Given the description of an element on the screen output the (x, y) to click on. 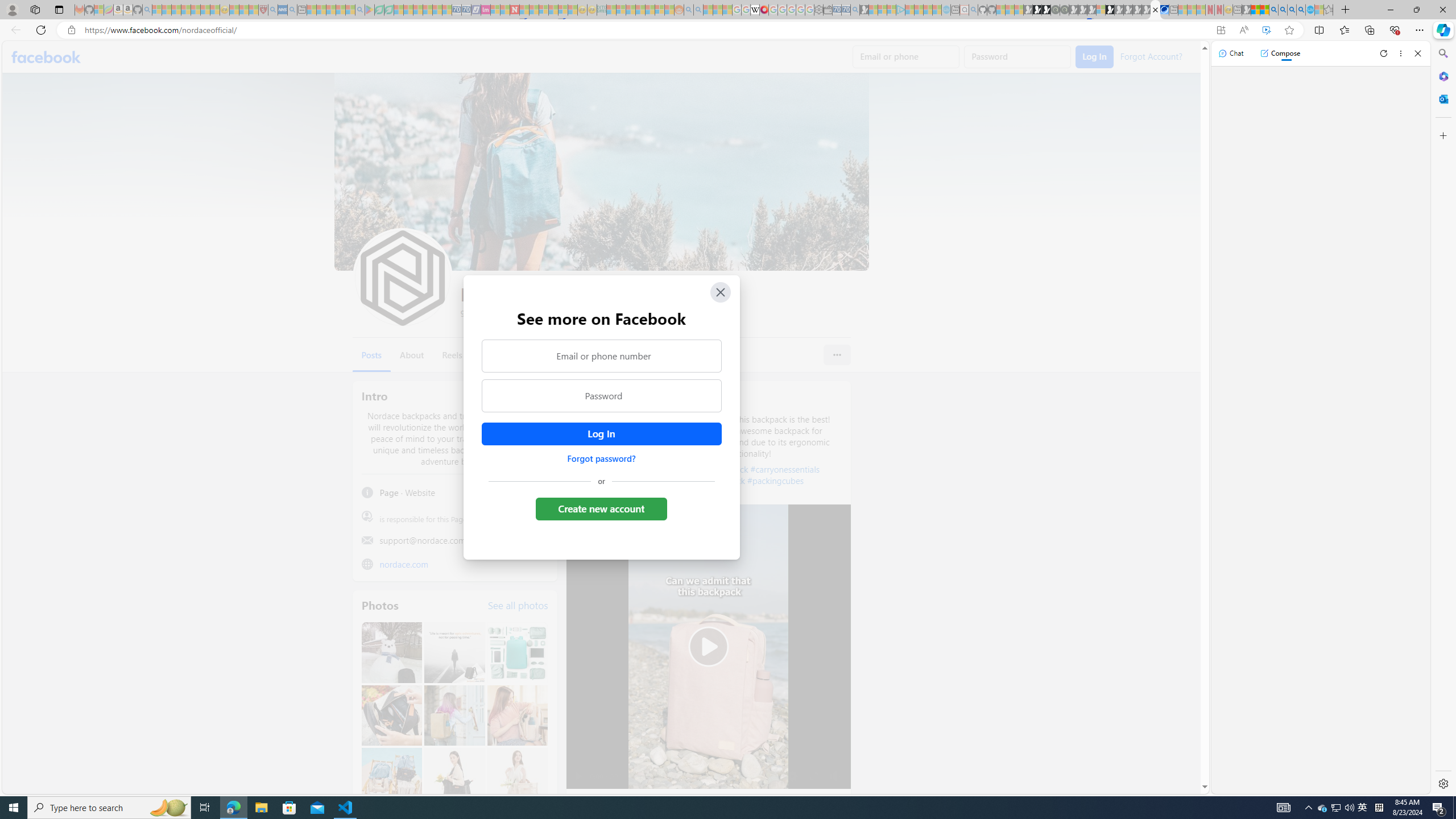
utah sues federal government - Search - Sleeping (291, 9)
Facebook (46, 56)
Email or phone (906, 56)
2009 Bing officially replaced Live Search on June 3 - Search (1283, 9)
AirNow.gov (1163, 9)
